Given the description of an element on the screen output the (x, y) to click on. 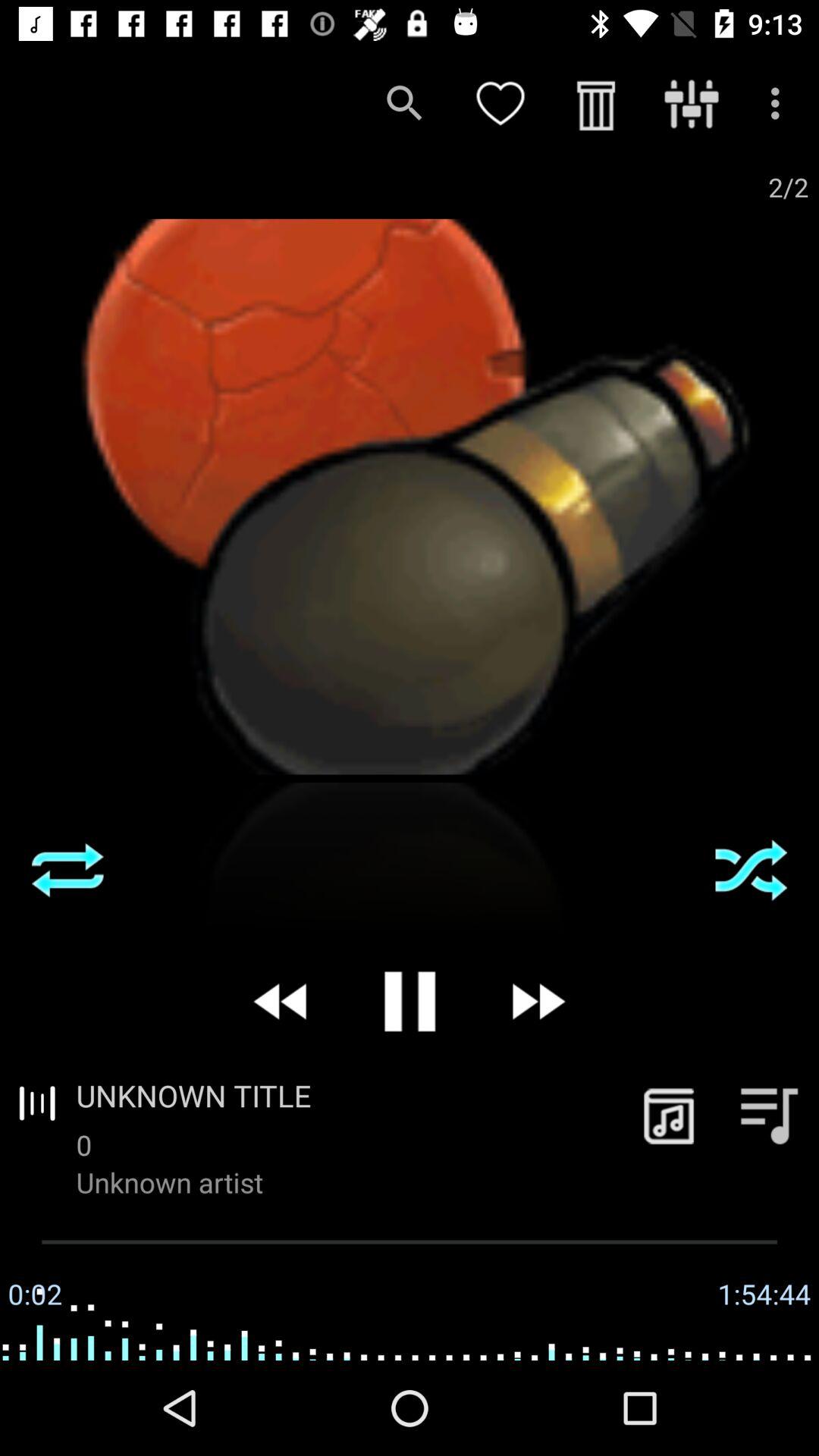
pause audio (409, 1001)
